Given the description of an element on the screen output the (x, y) to click on. 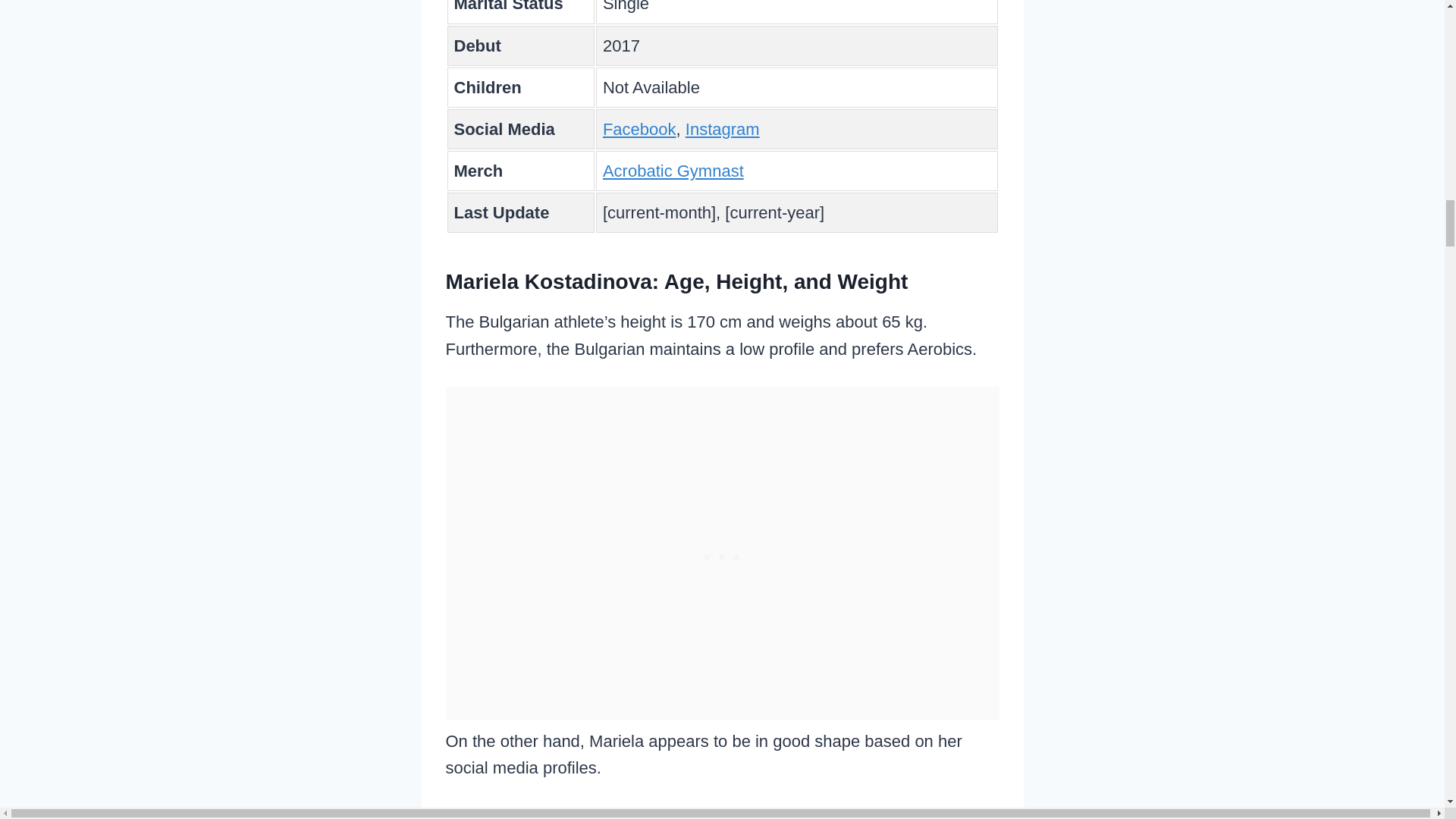
Acrobatic Gymnast (673, 170)
Facebook (639, 128)
Instagram (722, 128)
